Given the description of an element on the screen output the (x, y) to click on. 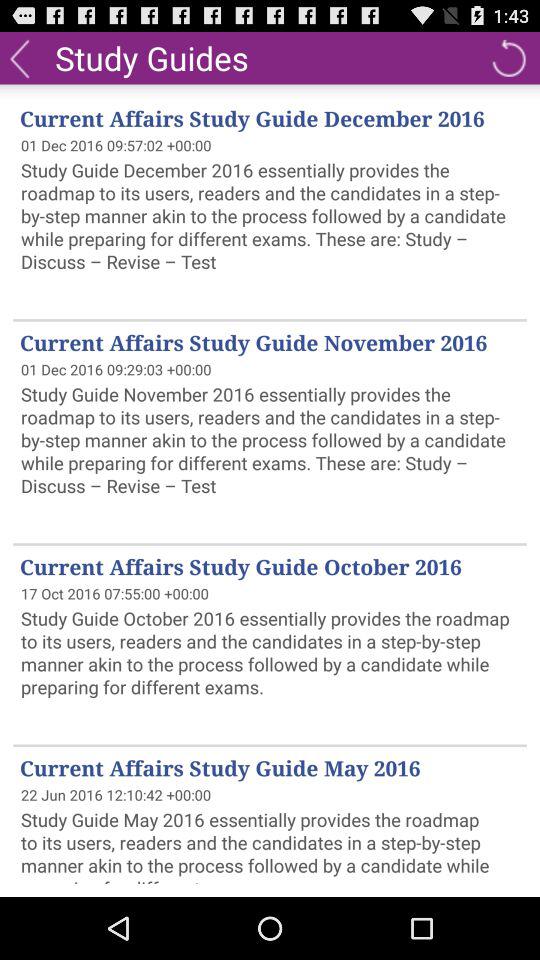
tap the item to the right of study guides item (508, 57)
